Given the description of an element on the screen output the (x, y) to click on. 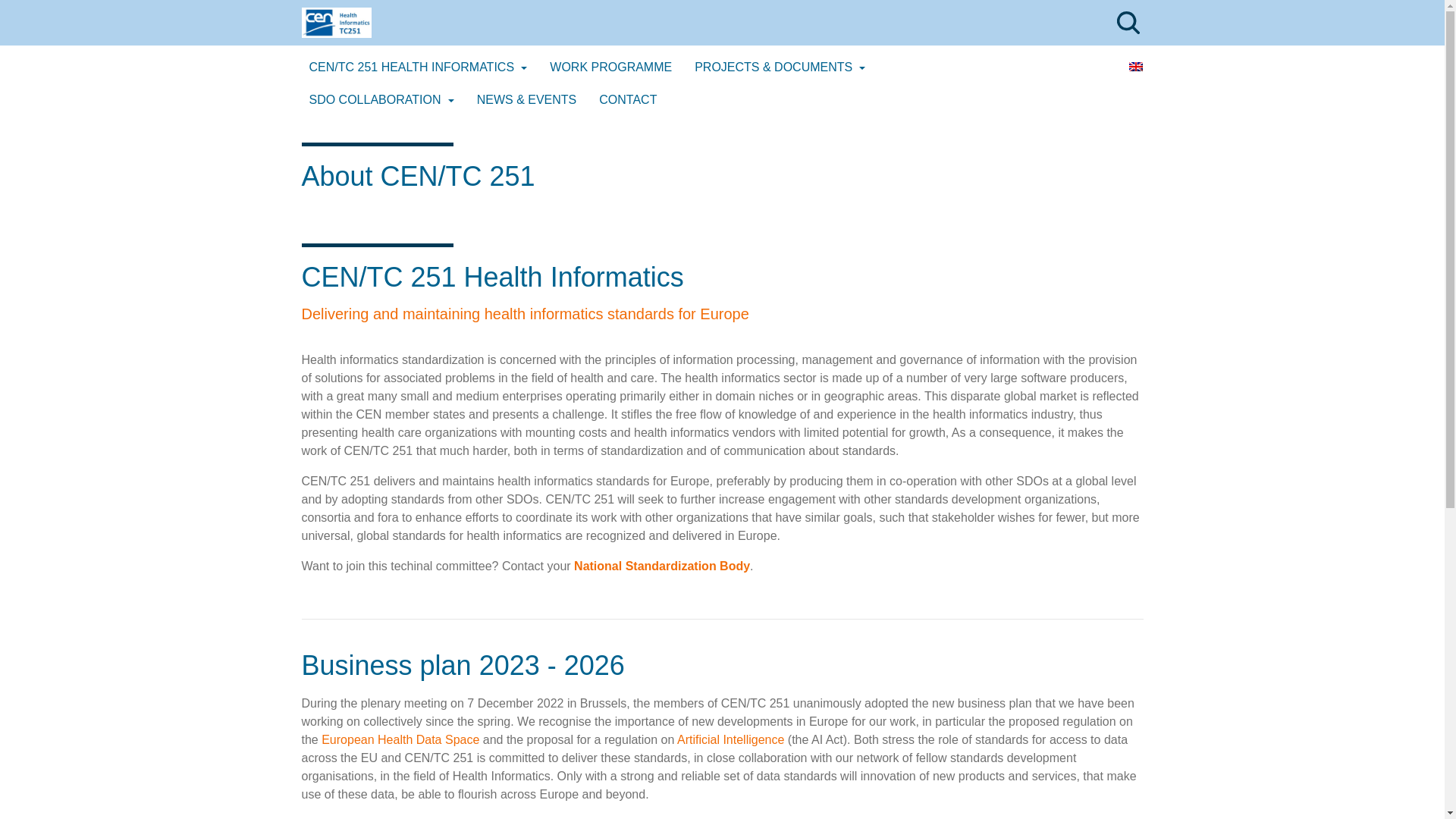
National Standardization Body (661, 565)
WORK PROGRAMME (610, 66)
Work programme (610, 66)
Contact (627, 99)
SDO Collaboration (381, 99)
CONTACT (627, 99)
European Health Data Space (400, 739)
SDO COLLABORATION (381, 99)
Artificial Intelligence (730, 739)
